Given the description of an element on the screen output the (x, y) to click on. 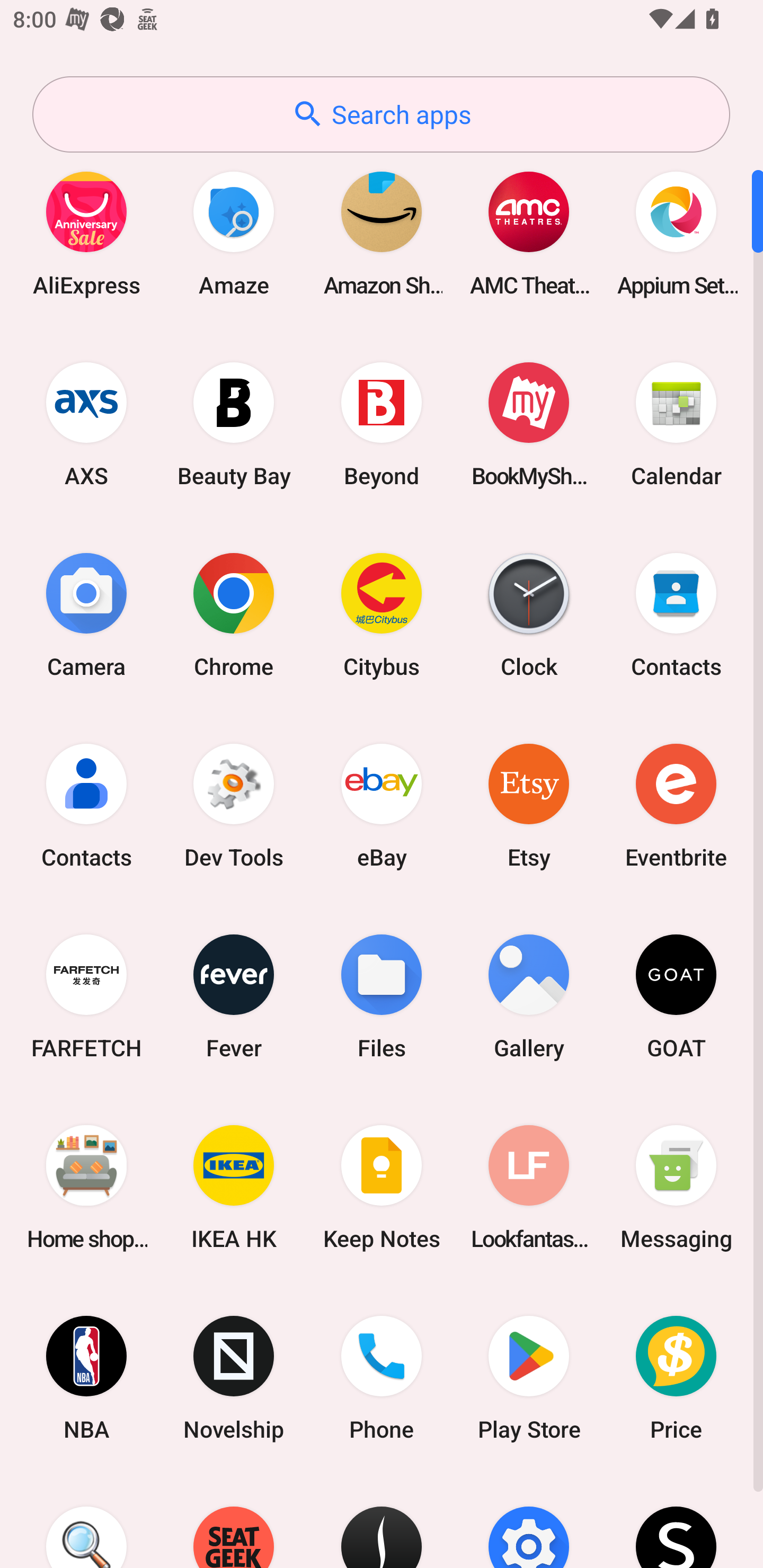
  Search apps (381, 114)
AliExpress (86, 233)
Amaze (233, 233)
Amazon Shopping (381, 233)
AMC Theatres (528, 233)
Appium Settings (676, 233)
AXS (86, 424)
Beauty Bay (233, 424)
Beyond (381, 424)
BookMyShow (528, 424)
Calendar (676, 424)
Camera (86, 614)
Chrome (233, 614)
Citybus (381, 614)
Clock (528, 614)
Contacts (676, 614)
Contacts (86, 805)
Dev Tools (233, 805)
eBay (381, 805)
Etsy (528, 805)
Eventbrite (676, 805)
FARFETCH (86, 996)
Fever (233, 996)
Files (381, 996)
Gallery (528, 996)
GOAT (676, 996)
Home shopping (86, 1186)
IKEA HK (233, 1186)
Keep Notes (381, 1186)
Lookfantastic (528, 1186)
Messaging (676, 1186)
NBA (86, 1377)
Novelship (233, 1377)
Phone (381, 1377)
Play Store (528, 1377)
Price (676, 1377)
